Given the description of an element on the screen output the (x, y) to click on. 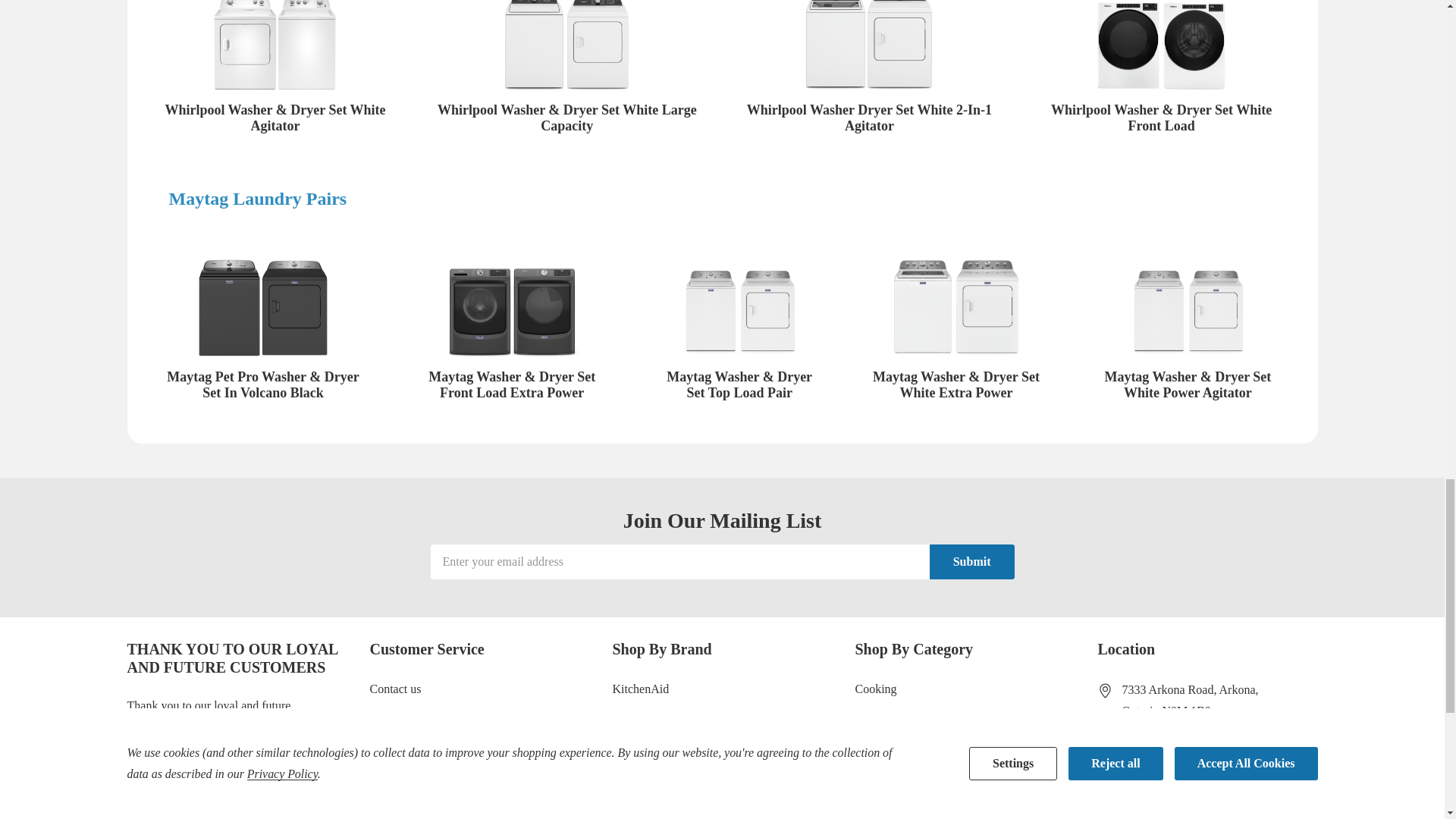
Submit (972, 561)
